Given the description of an element on the screen output the (x, y) to click on. 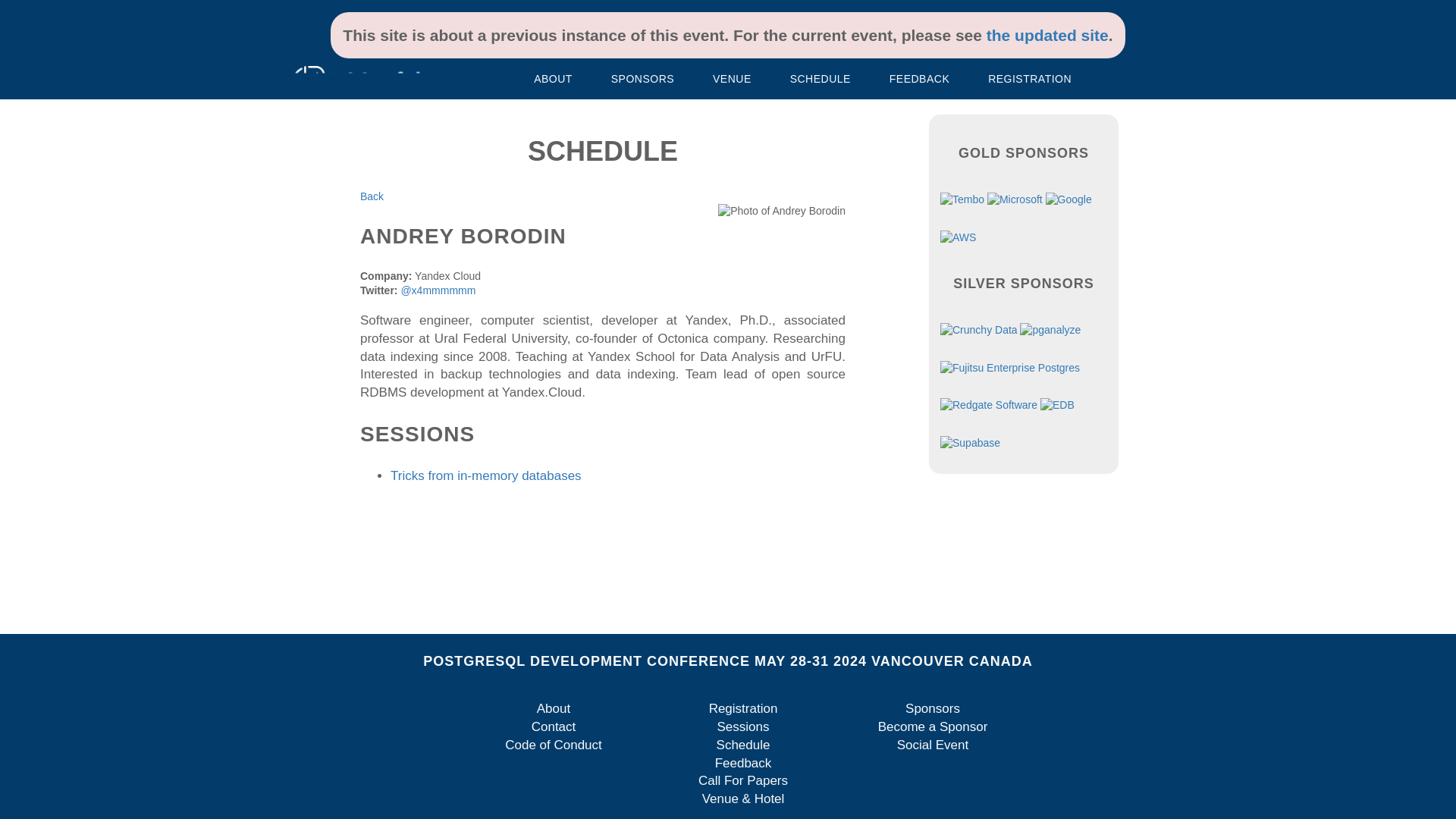
Sessions (743, 726)
ABOUT (553, 79)
REGISTRATION (1029, 79)
Social Event (932, 744)
Become a Sponsor (932, 726)
FEEDBACK (918, 79)
the updated site (1047, 35)
SCHEDULE (820, 79)
Tricks from in-memory databases (485, 475)
Registration (743, 708)
